Given the description of an element on the screen output the (x, y) to click on. 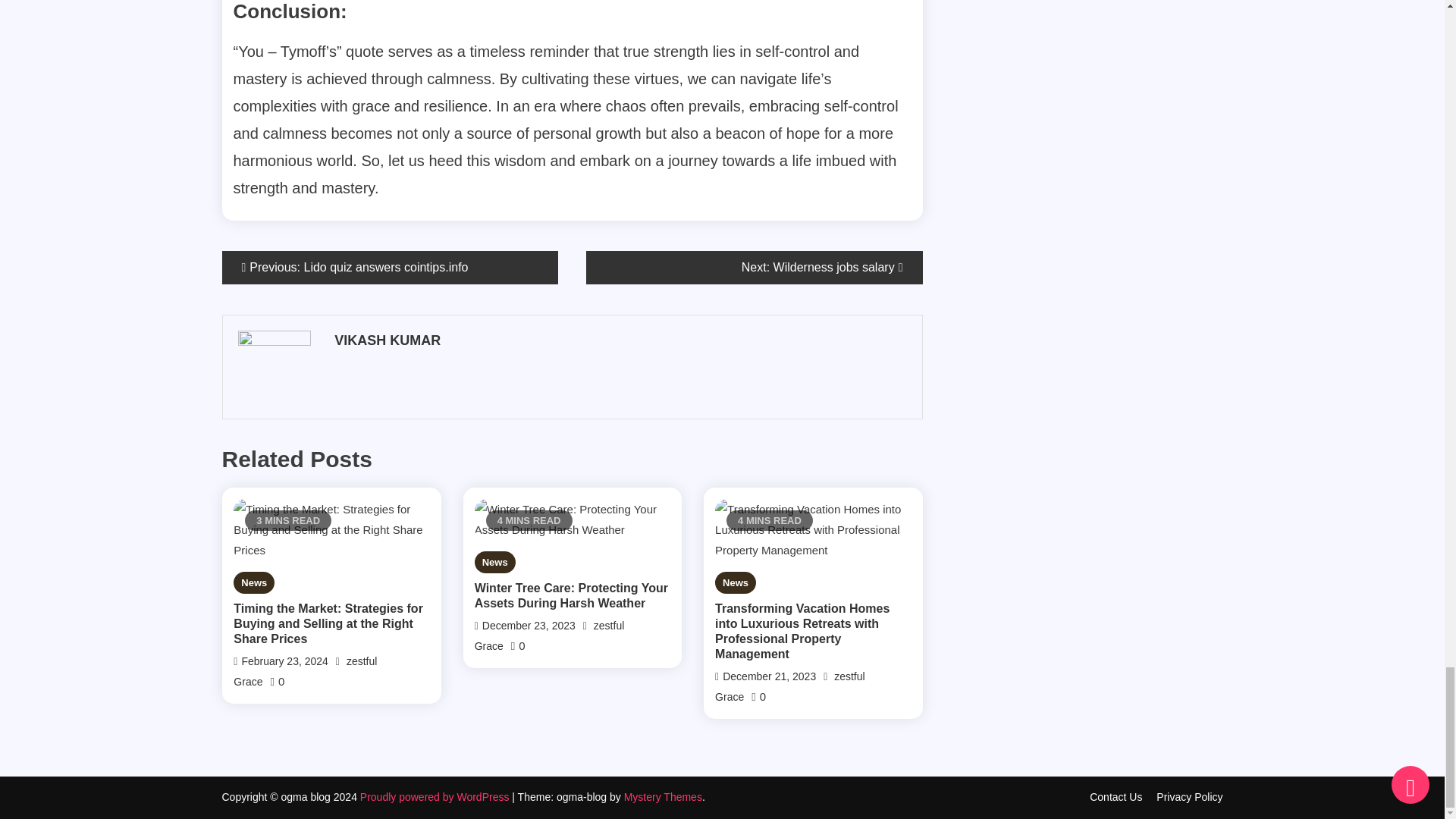
Posts by vikash kumar (618, 340)
Next: Wilderness jobs salary (754, 267)
Previous: Lido quiz answers cointips.info (389, 267)
VIKASH KUMAR (618, 340)
News (253, 582)
